Given the description of an element on the screen output the (x, y) to click on. 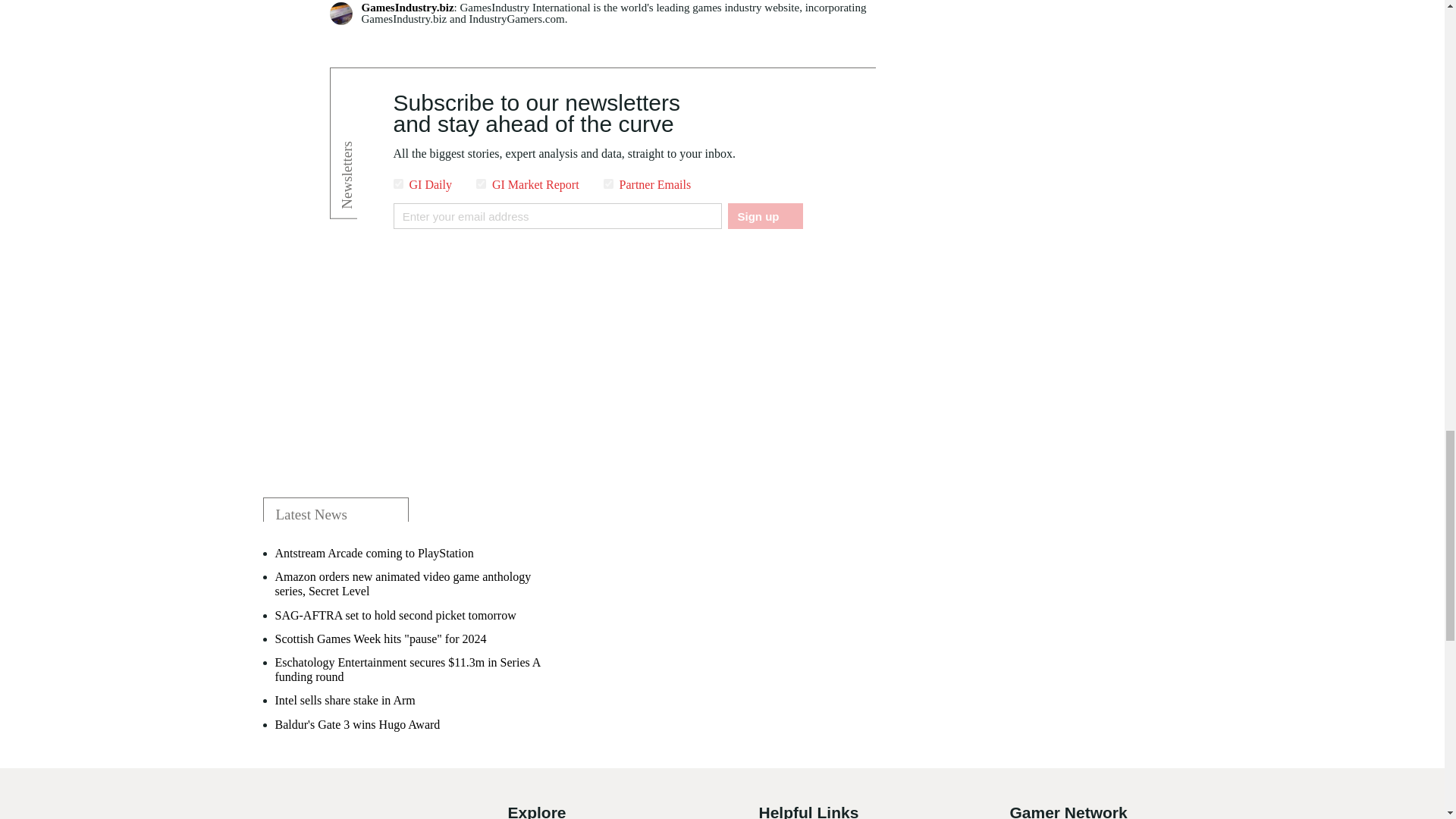
SAG-AFTRA set to hold second picket tomorrow (395, 615)
on (481, 184)
on (398, 184)
Sign up (765, 216)
GamesIndustry.biz (406, 7)
on (608, 184)
Scottish Games Week hits "pause" for 2024 (380, 638)
Intel sells share stake in Arm (344, 699)
Baldur's Gate 3 wins Hugo Award (357, 724)
